Given the description of an element on the screen output the (x, y) to click on. 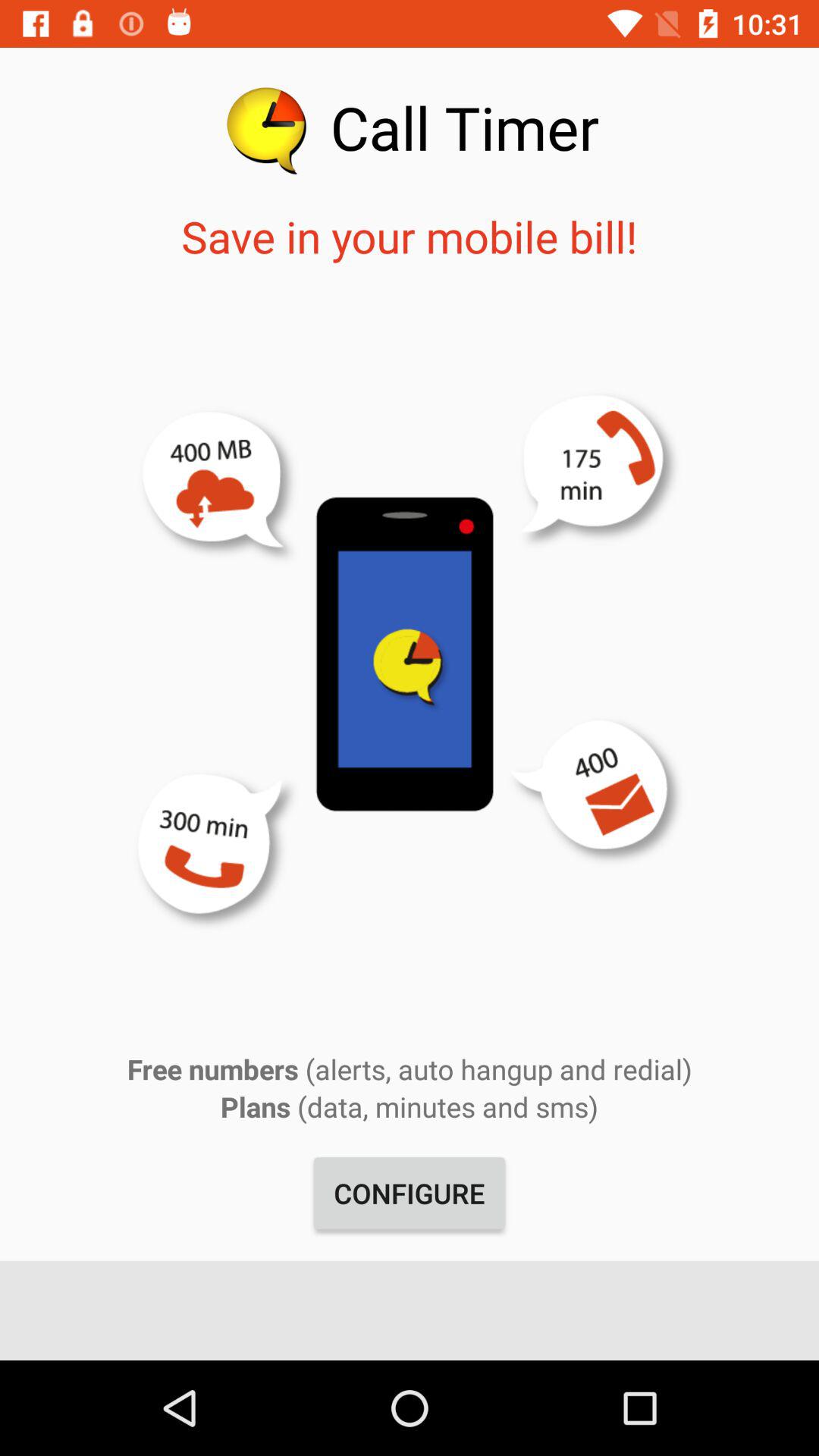
turn on the configure item (409, 1193)
